Given the description of an element on the screen output the (x, y) to click on. 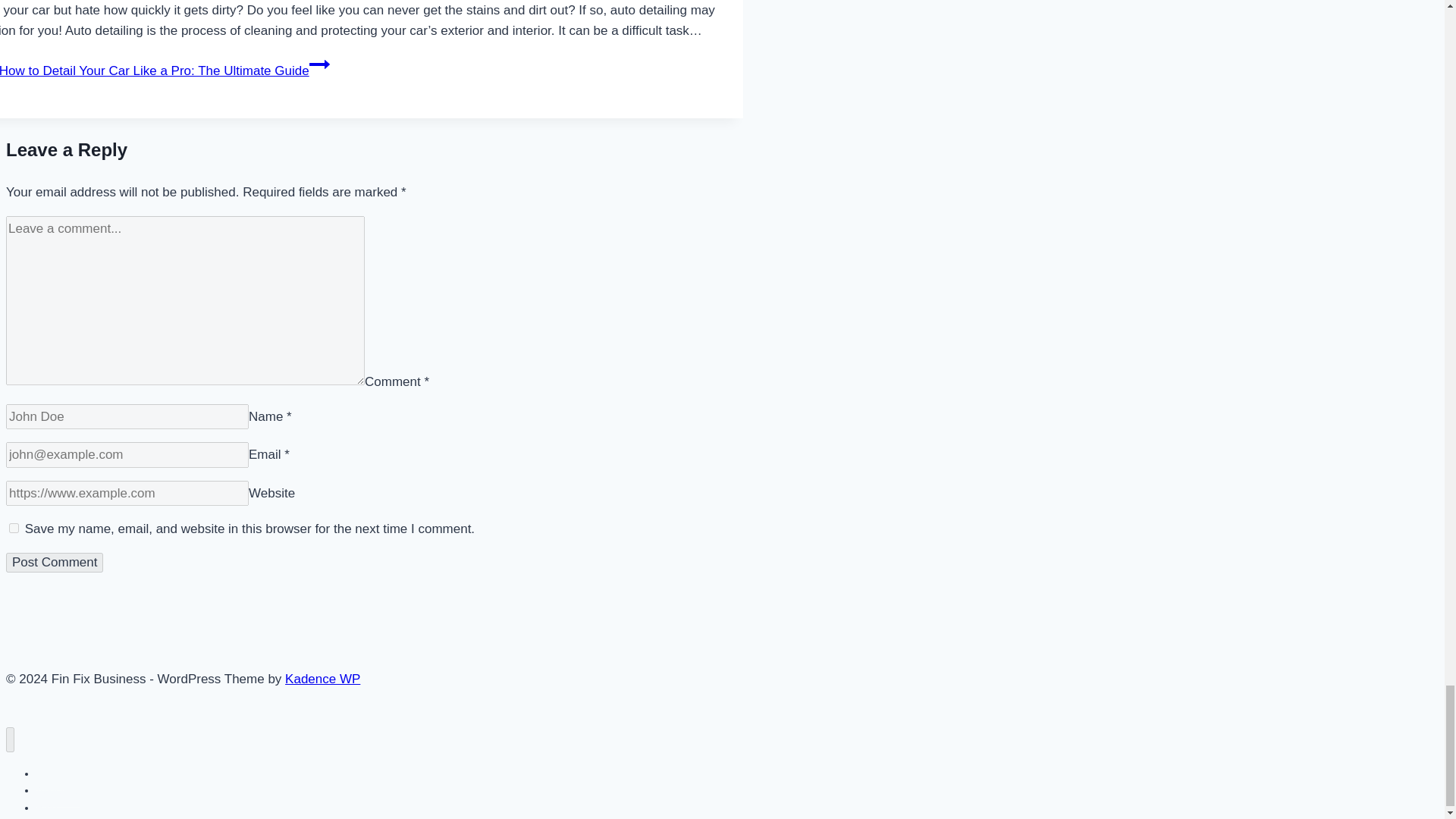
Continue (319, 64)
yes (13, 528)
Post Comment (54, 562)
Kadence WP (322, 678)
Post Comment (54, 562)
